Given the description of an element on the screen output the (x, y) to click on. 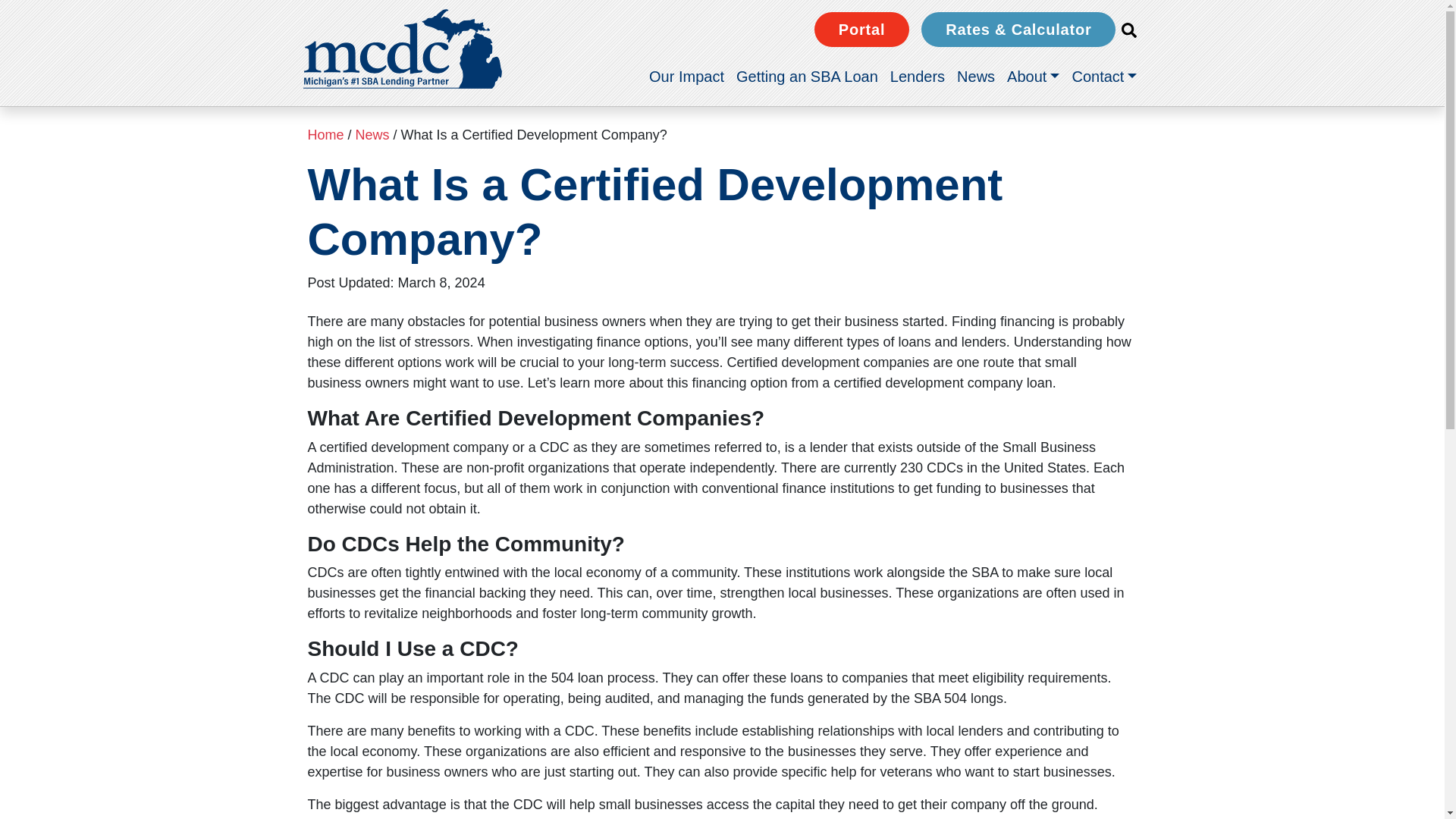
Our Impact (686, 76)
About (1033, 76)
Getting an SBA Loan (806, 76)
Lenders (916, 76)
News (372, 134)
Our Impact (686, 76)
News (975, 76)
Contact (1103, 76)
News (975, 76)
Getting an SBA Loan (806, 76)
